Given the description of an element on the screen output the (x, y) to click on. 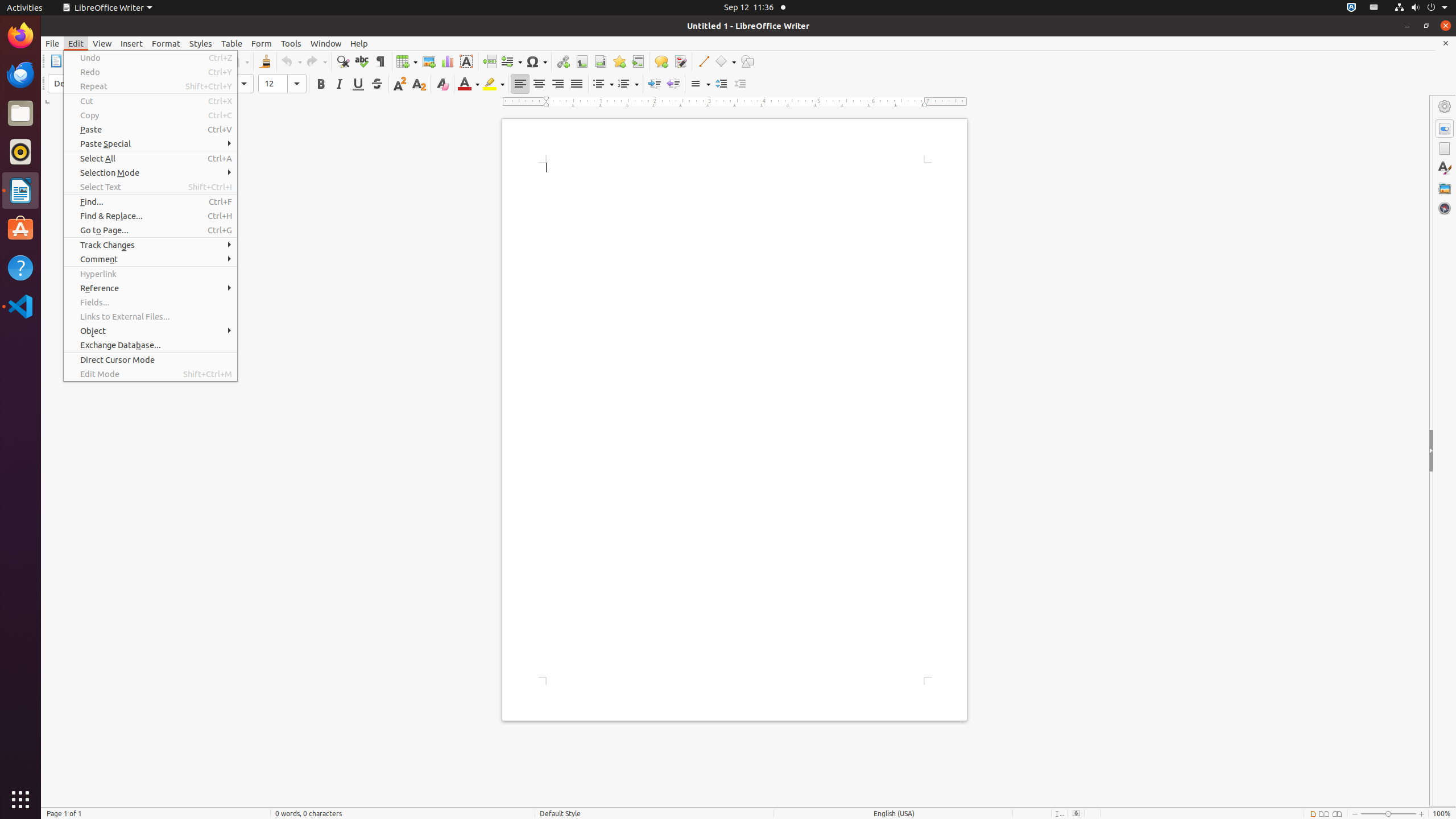
Show Applications Element type: toggle-button (20, 799)
Reference Element type: menu (150, 287)
:1.72/StatusNotifierItem Element type: menu (1350, 7)
Center Element type: toggle-button (538, 83)
Help Element type: menu (358, 43)
